Given the description of an element on the screen output the (x, y) to click on. 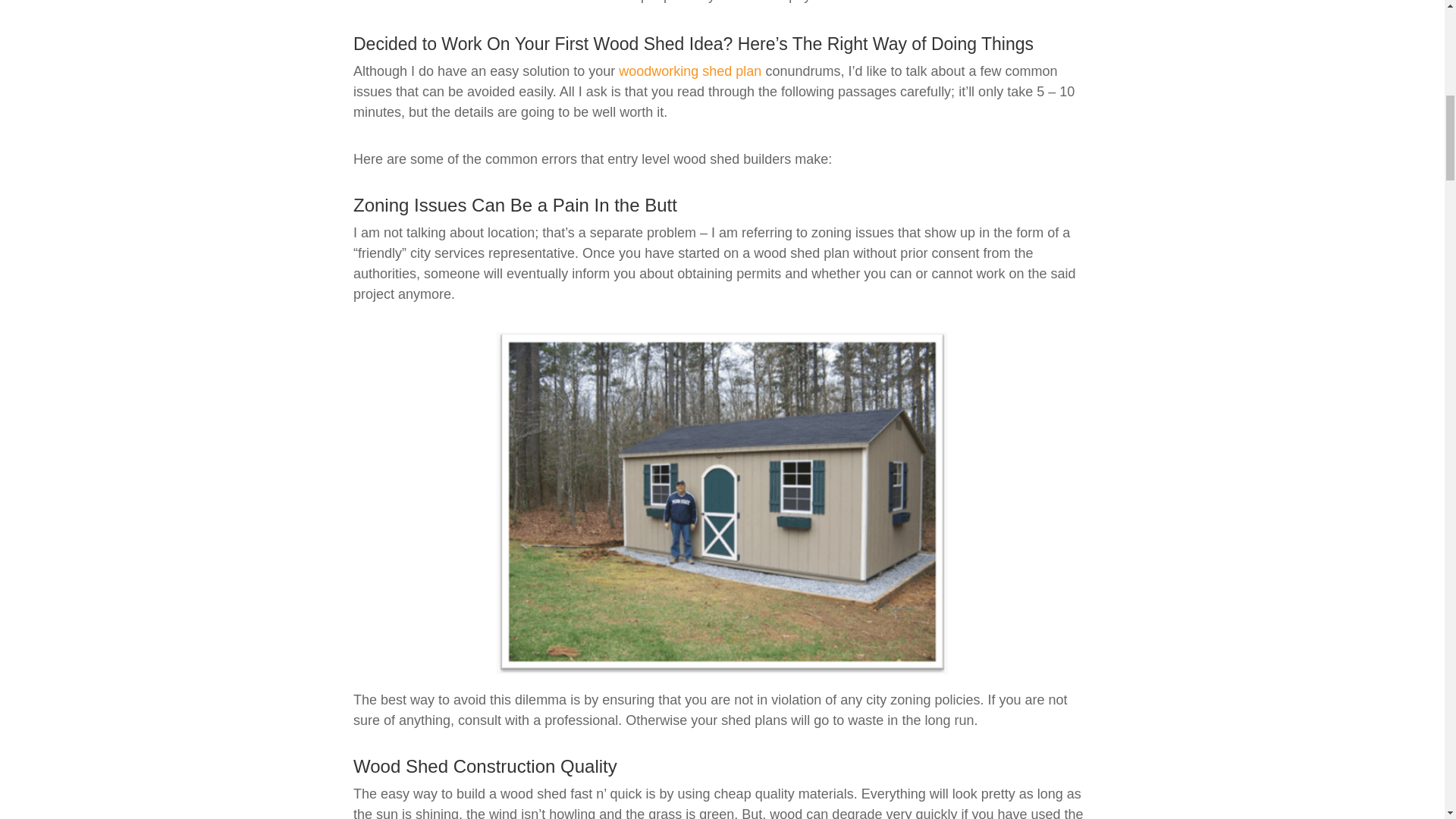
woodworking shed plan (689, 70)
